Given the description of an element on the screen output the (x, y) to click on. 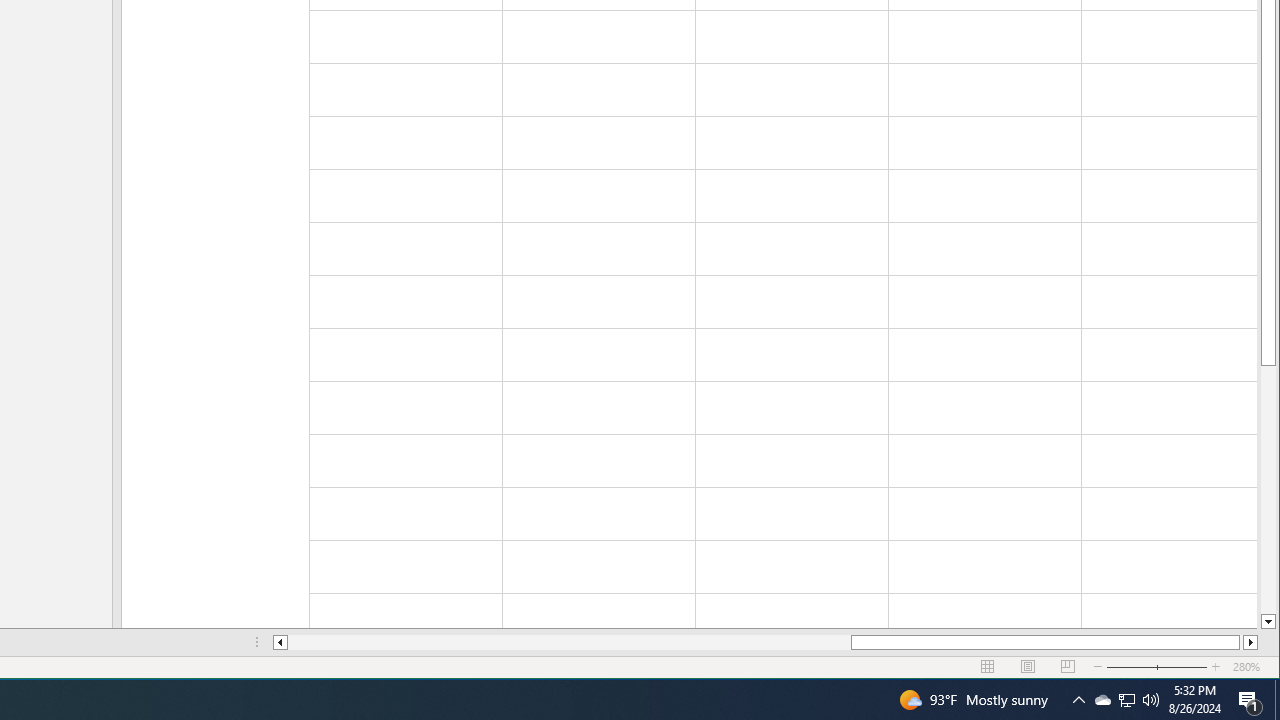
Show desktop (1277, 699)
Q2790: 100% (1151, 699)
Notification Chevron (1078, 699)
